Given the description of an element on the screen output the (x, y) to click on. 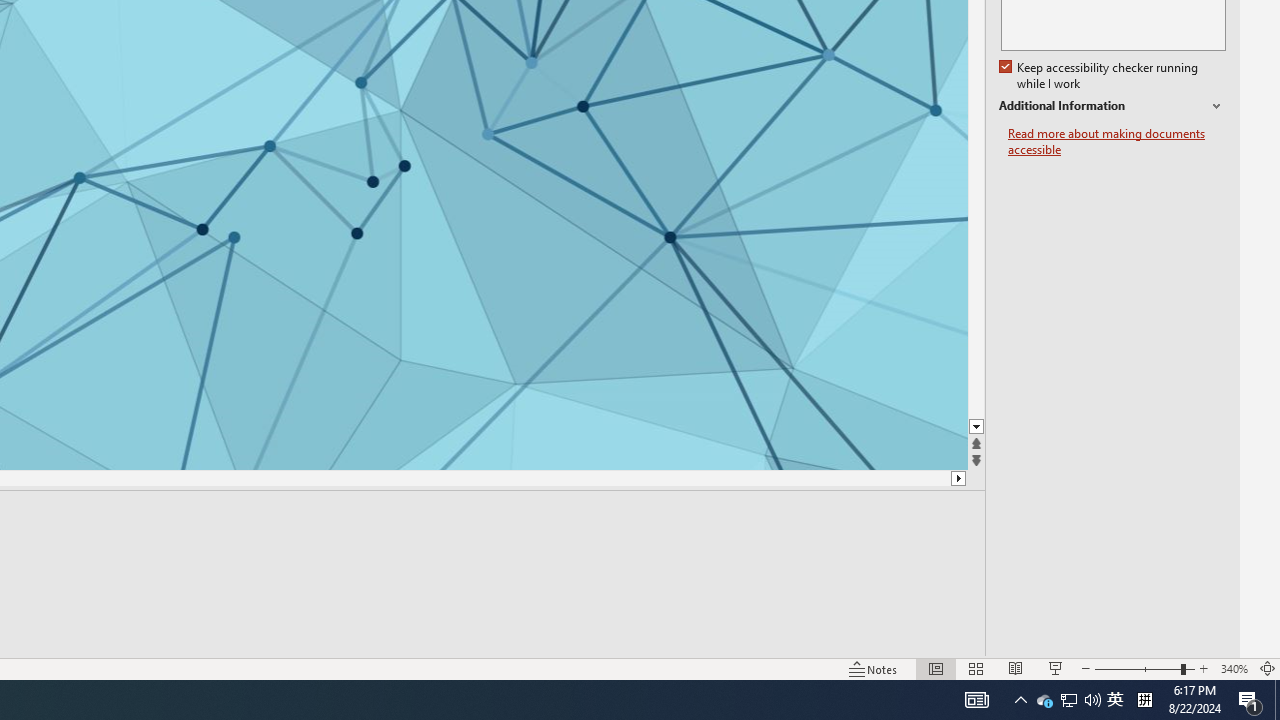
Zoom 340% (1234, 668)
